Given the description of an element on the screen output the (x, y) to click on. 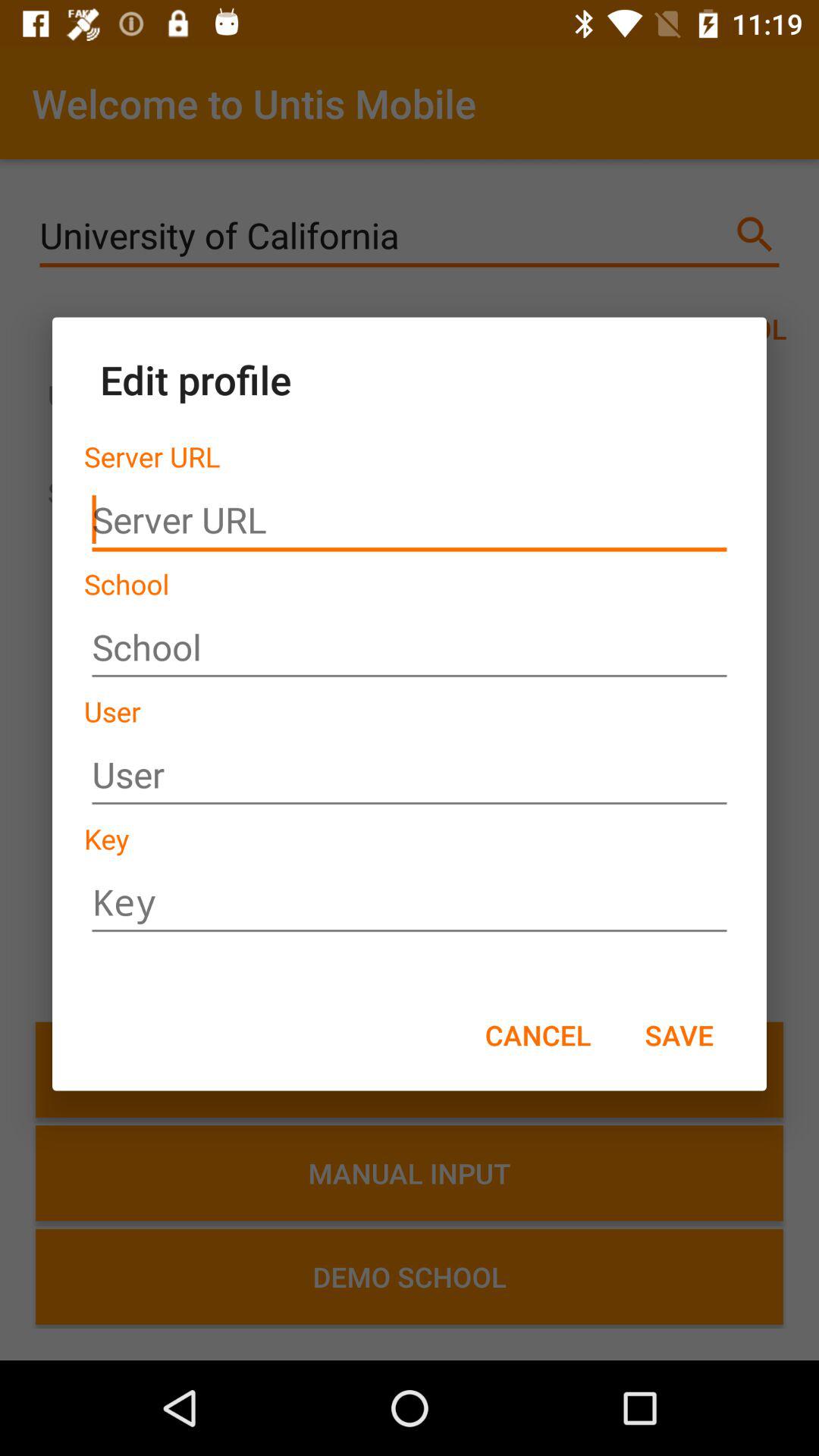
enter your server url (409, 520)
